Given the description of an element on the screen output the (x, y) to click on. 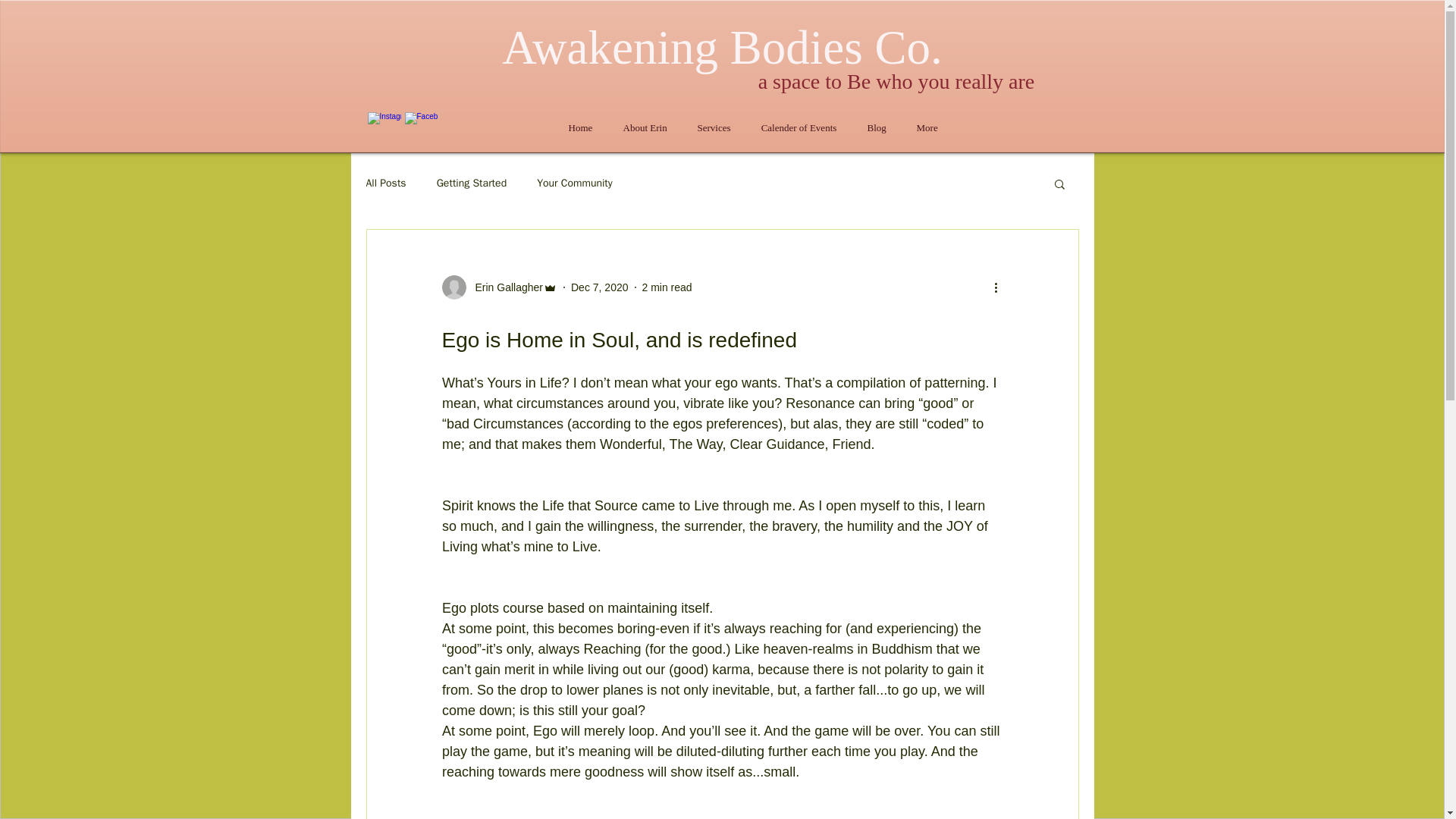
Home (580, 128)
2 min read (666, 286)
Erin Gallagher (499, 287)
Services (713, 128)
Your Community (574, 183)
Calender of Events (798, 128)
Blog (876, 128)
Getting Started (471, 183)
Dec 7, 2020 (599, 286)
About Erin (645, 128)
